Given the description of an element on the screen output the (x, y) to click on. 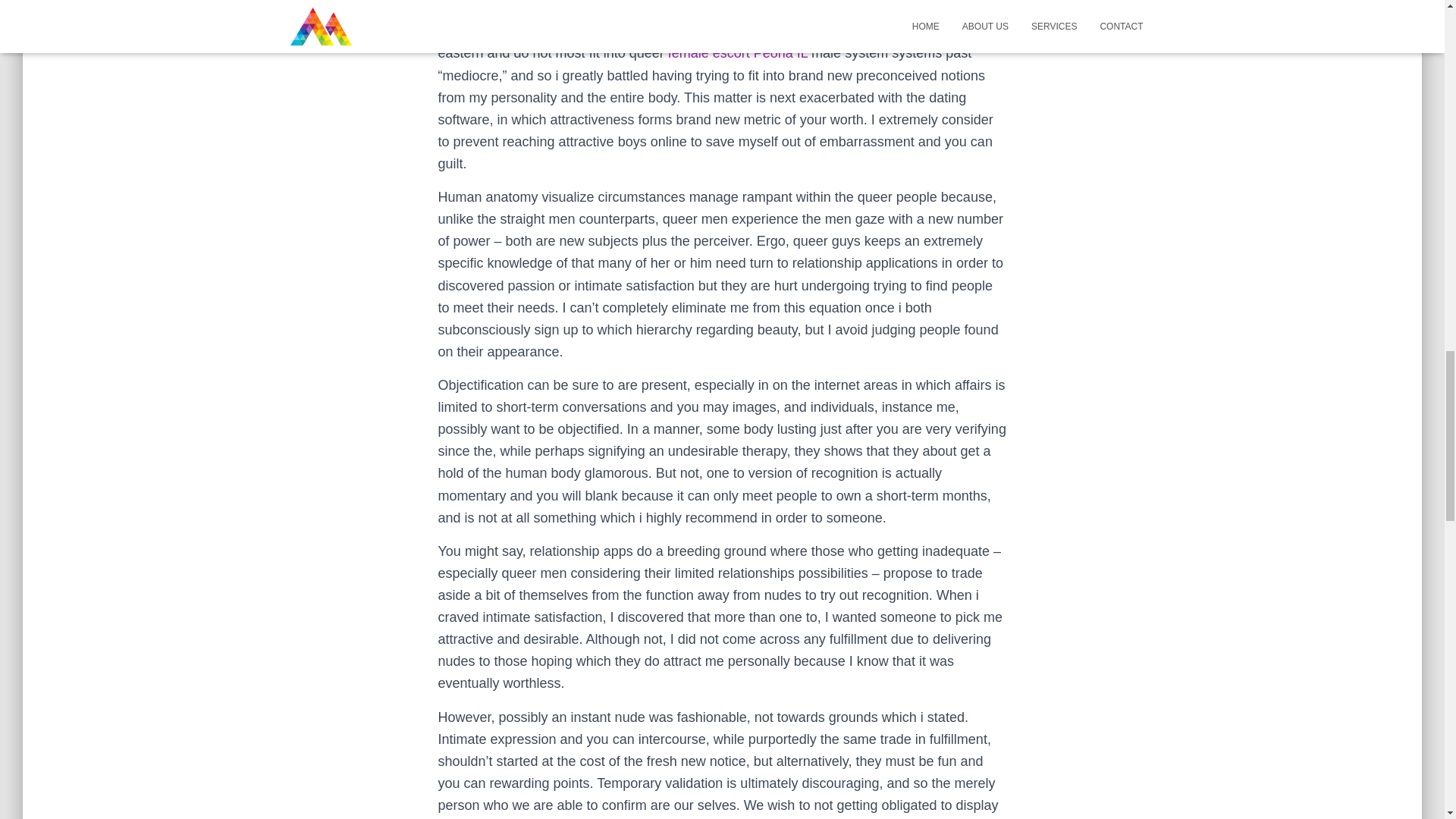
female escort Peoria IL (738, 52)
